Given the description of an element on the screen output the (x, y) to click on. 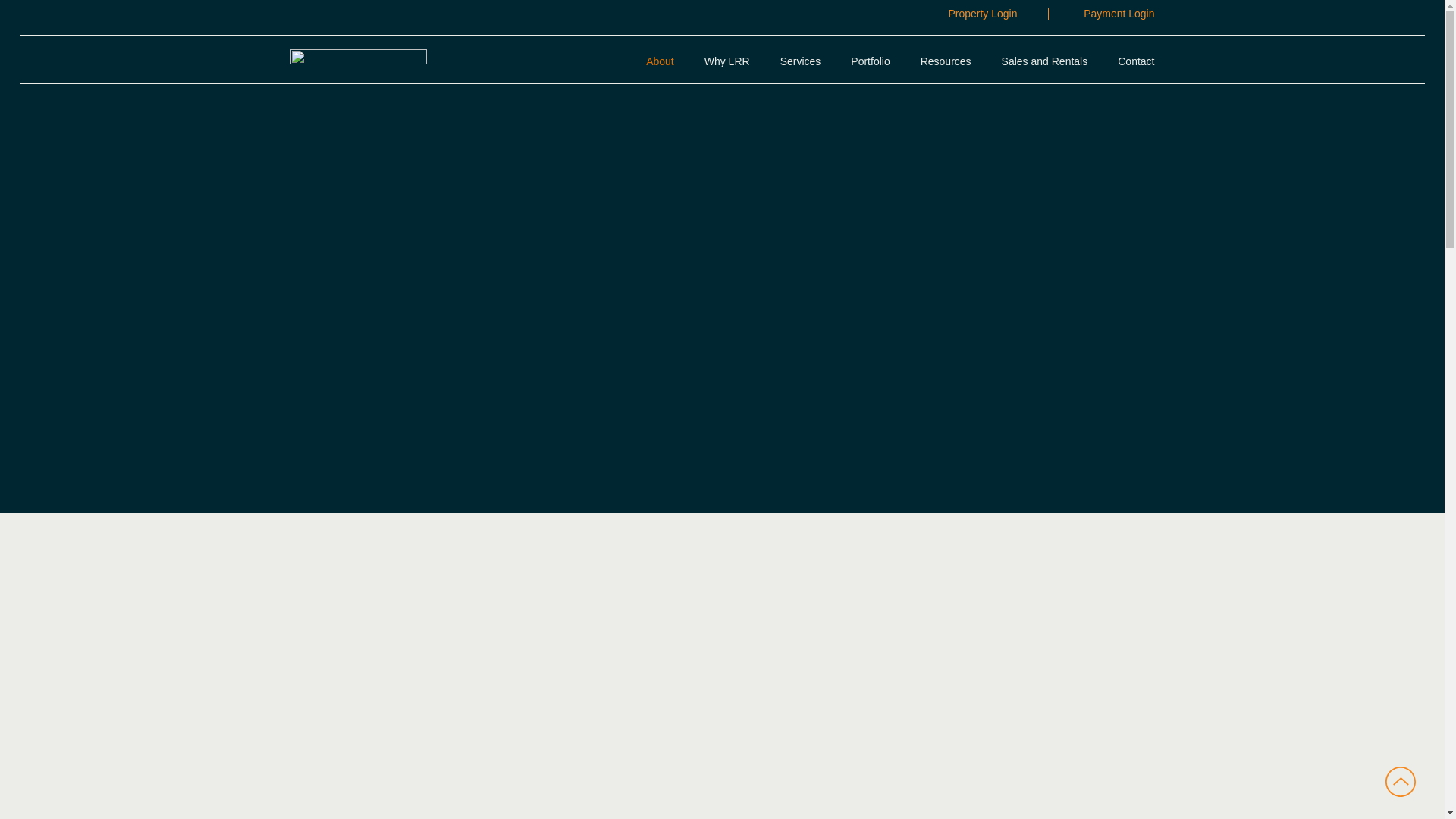
Property Login (981, 13)
Sales and Rentals (1044, 60)
Payment Login (1118, 13)
Resources (945, 60)
About (660, 60)
Services (800, 60)
Portfolio (869, 60)
Why LRR (726, 60)
Contact (1136, 60)
